Given the description of an element on the screen output the (x, y) to click on. 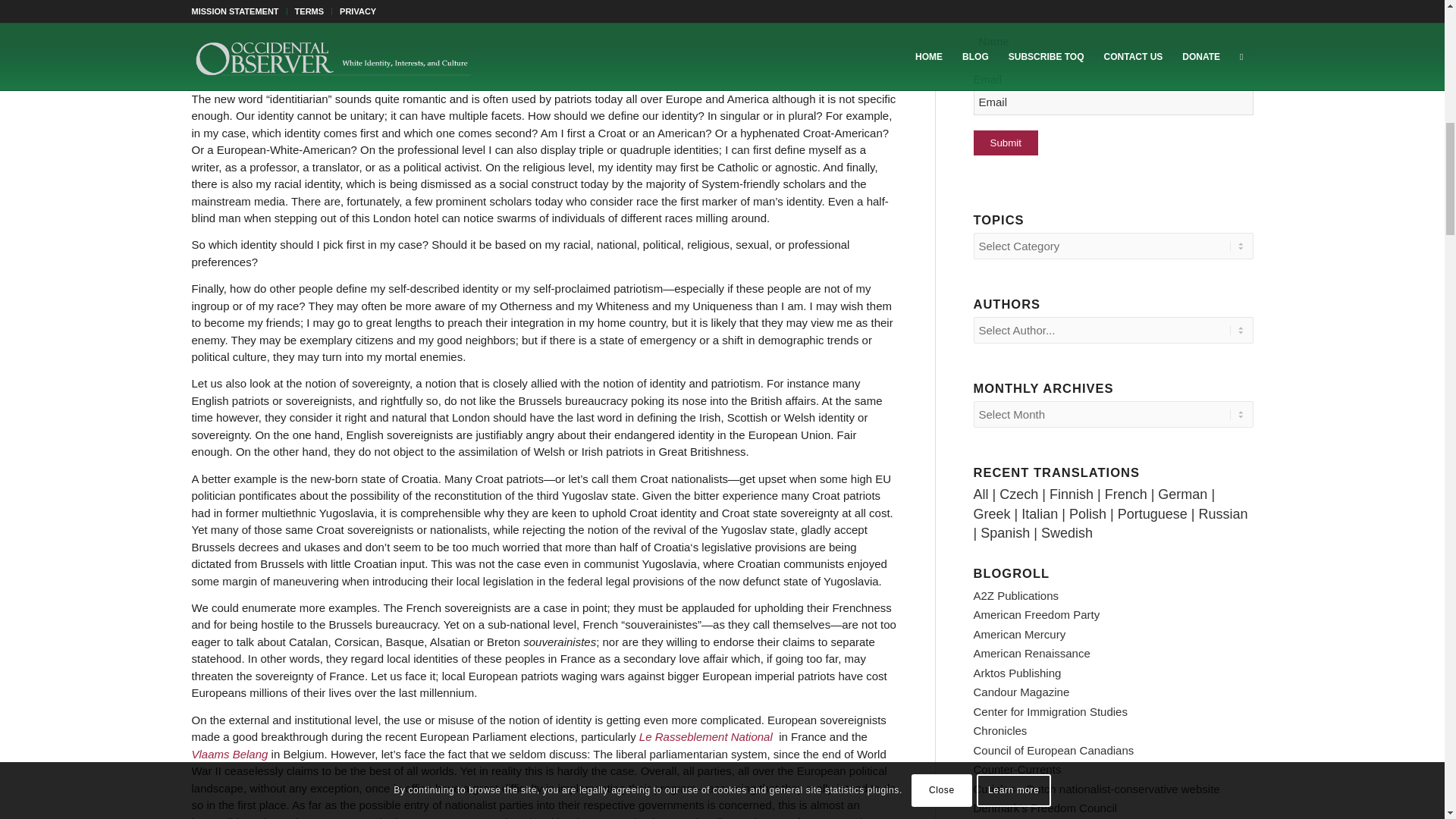
Vlaams Belang (228, 753)
Submit (1006, 142)
Le Rasseblement National (707, 736)
